Given the description of an element on the screen output the (x, y) to click on. 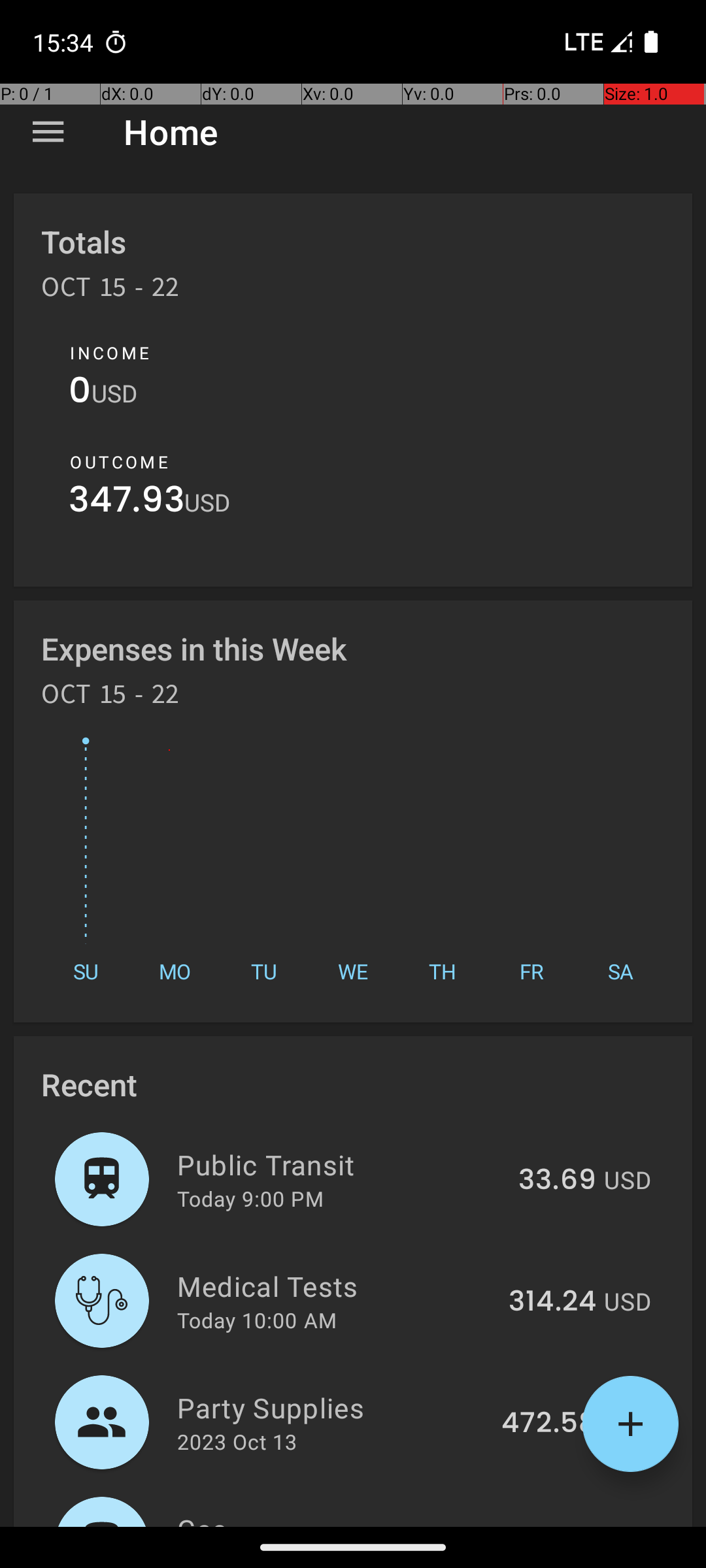
347.93 Element type: android.widget.TextView (126, 502)
Public Transit Element type: android.widget.TextView (340, 1164)
33.69 Element type: android.widget.TextView (556, 1180)
Medical Tests Element type: android.widget.TextView (335, 1285)
Today 10:00 AM Element type: android.widget.TextView (256, 1320)
314.24 Element type: android.widget.TextView (551, 1301)
472.58 Element type: android.widget.TextView (548, 1423)
324.86 Element type: android.widget.TextView (548, 1524)
